Given the description of an element on the screen output the (x, y) to click on. 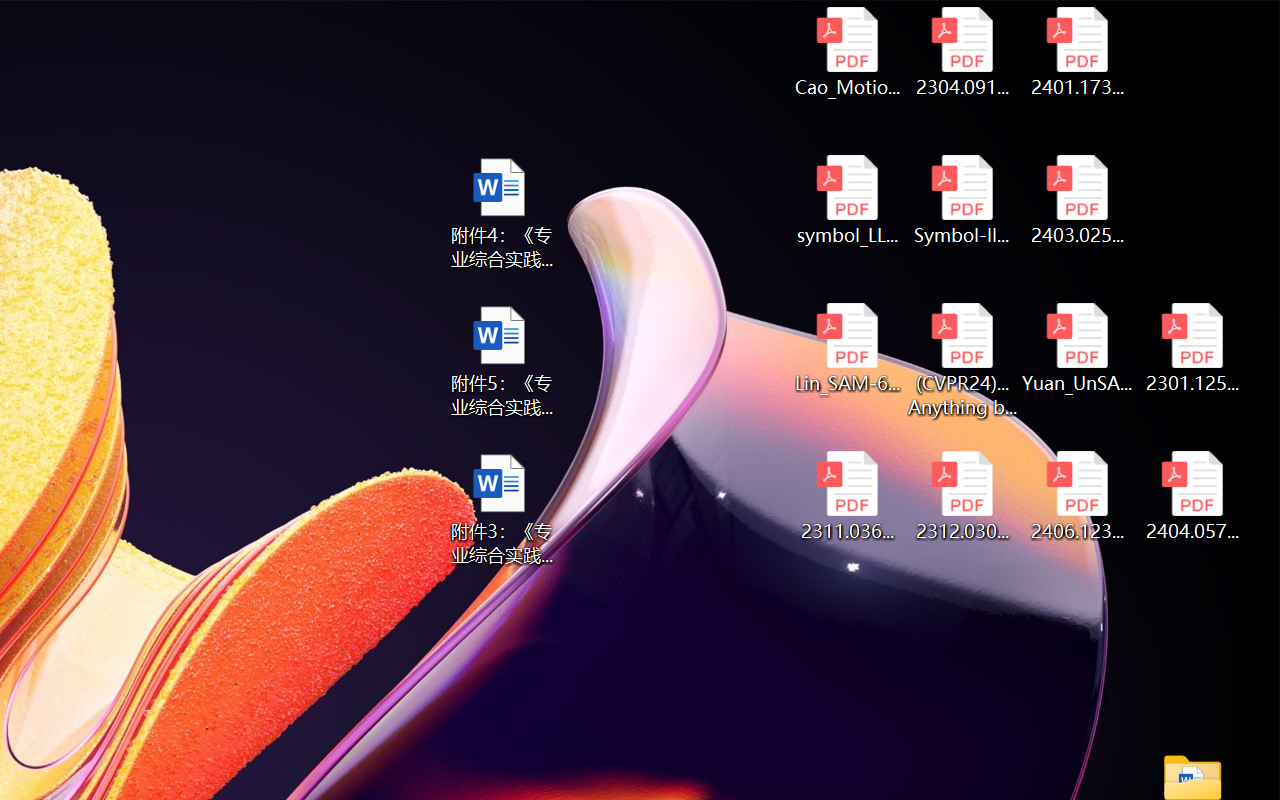
2304.09121v3.pdf (962, 52)
2312.03032v2.pdf (962, 496)
